Given the description of an element on the screen output the (x, y) to click on. 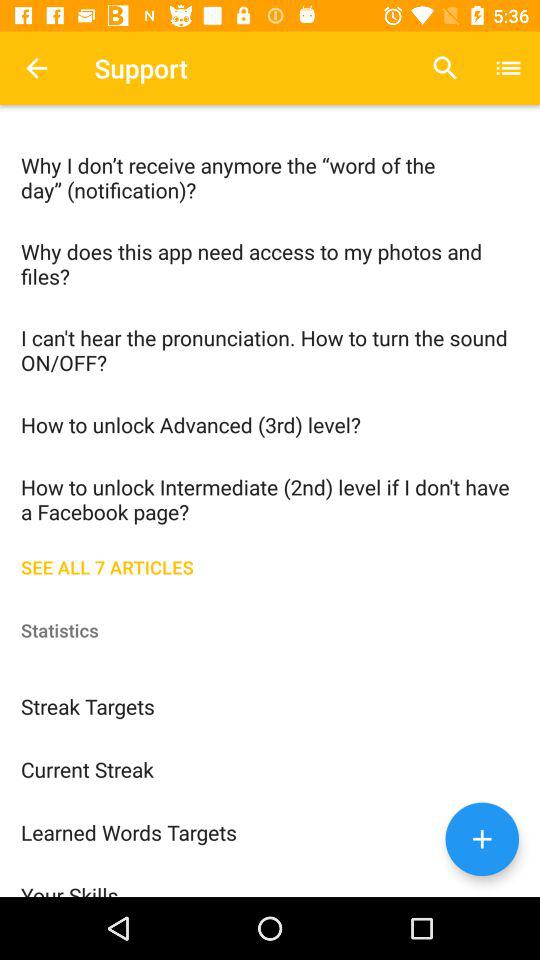
select streak targets item (270, 705)
